Given the description of an element on the screen output the (x, y) to click on. 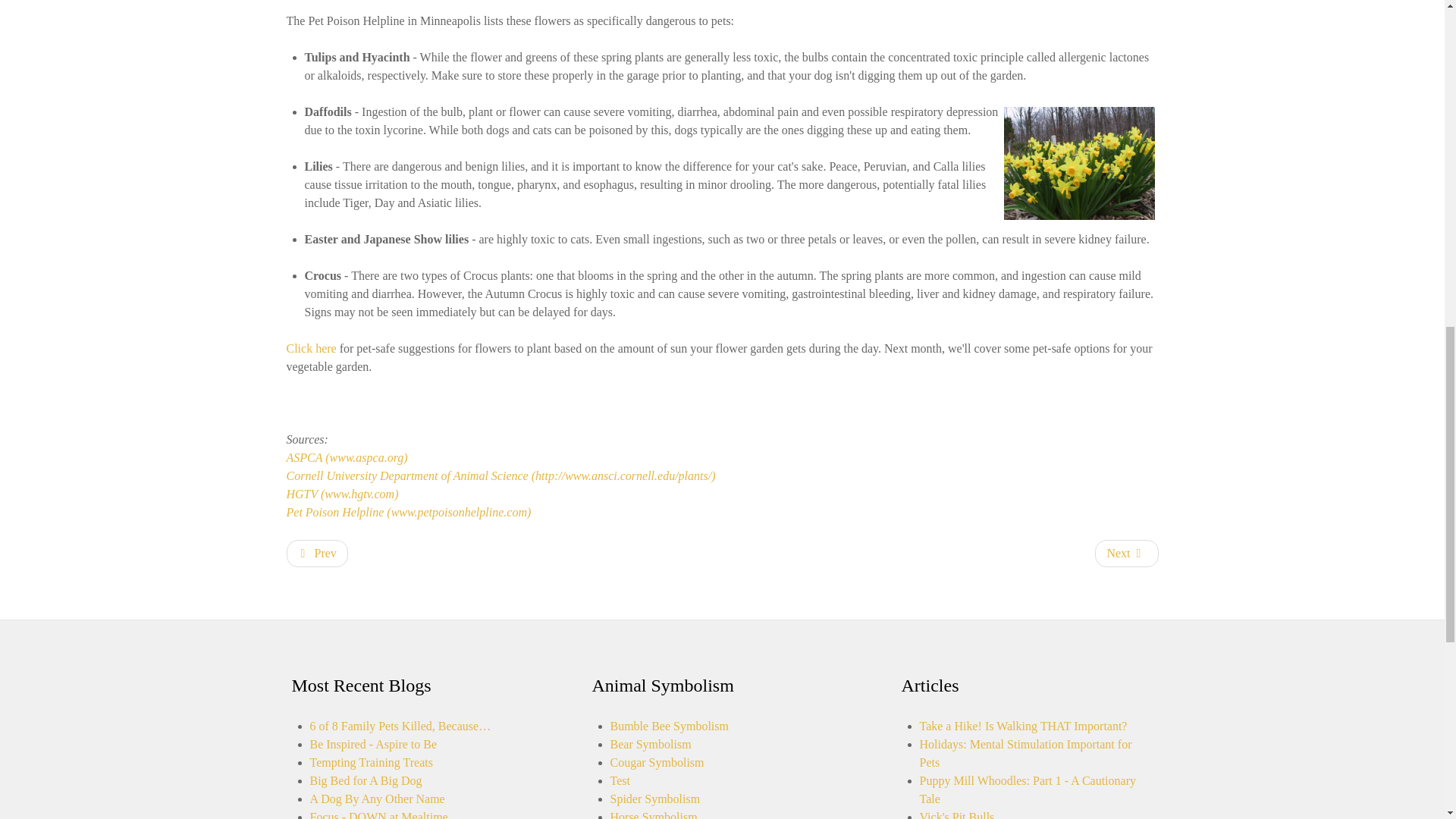
Horse Symbolism (653, 814)
Spider Symbolism (655, 798)
Click here (311, 348)
Next (1125, 553)
Bear Symbolism (650, 744)
Big Bed for A Big Dog (365, 780)
Be Inspired - Aspire to Be (372, 744)
Vick's Pit Bulls (956, 814)
Cougar Symbolism (656, 762)
Holidays: Mental Stimulation Important for Pets (1024, 753)
Bumble Bee Symbolism (669, 725)
Tempting Training Treats (370, 762)
A Dog By Any Other Name (376, 798)
Focus - DOWN at Mealtime (377, 814)
Puppy Mill Whoodles: Part 1 - A Cautionary Tale (1026, 789)
